Given the description of an element on the screen output the (x, y) to click on. 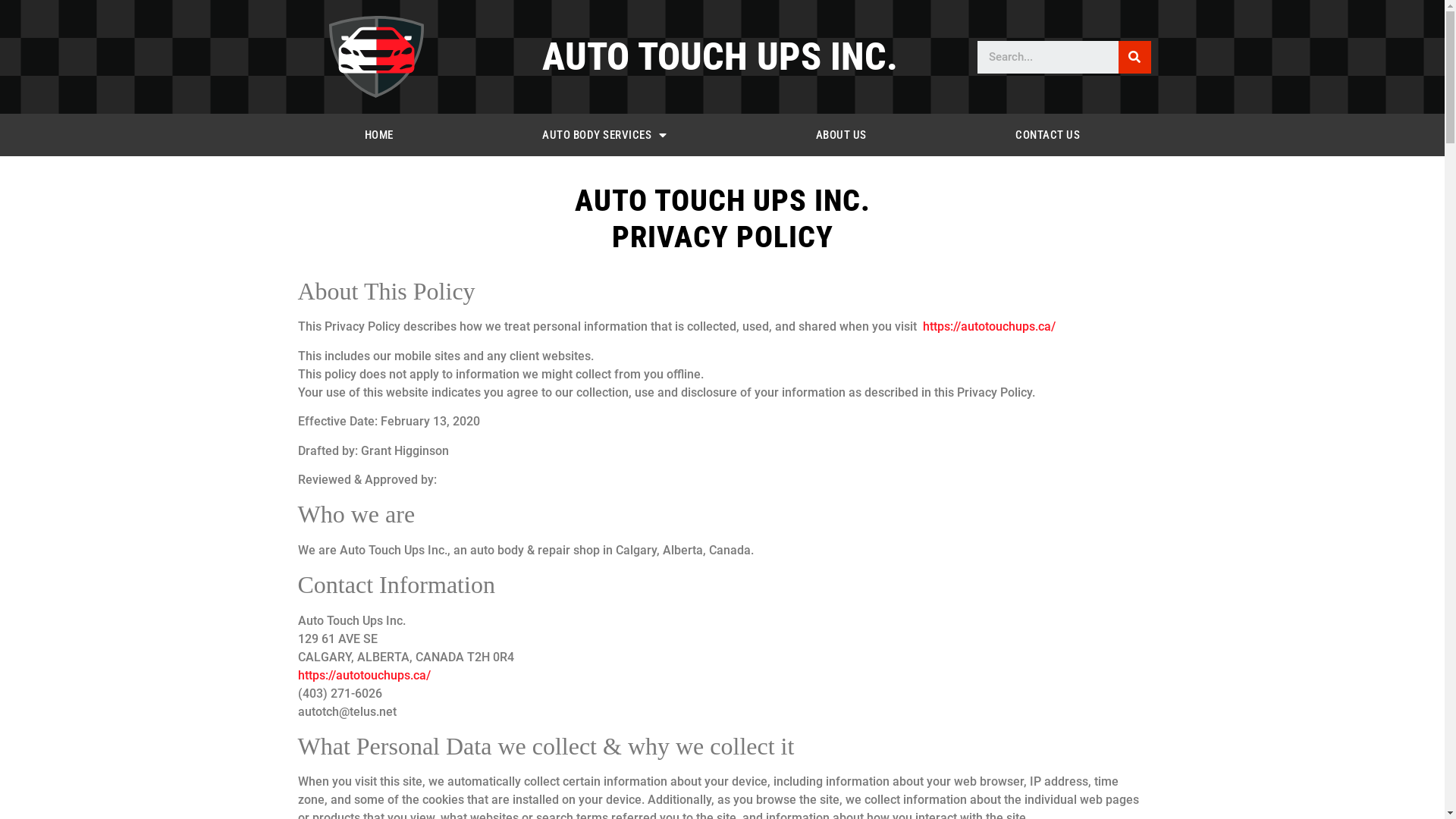
https://autotouchups.ca/ Element type: text (363, 675)
ABOUT US Element type: text (841, 134)
HOME Element type: text (378, 134)
CONTACT US Element type: text (1047, 134)
Search Element type: hover (1134, 56)
Search Element type: hover (1047, 56)
https://autotouchups.ca/ Element type: text (988, 326)
AUTO BODY SERVICES Element type: text (604, 134)
